Given the description of an element on the screen output the (x, y) to click on. 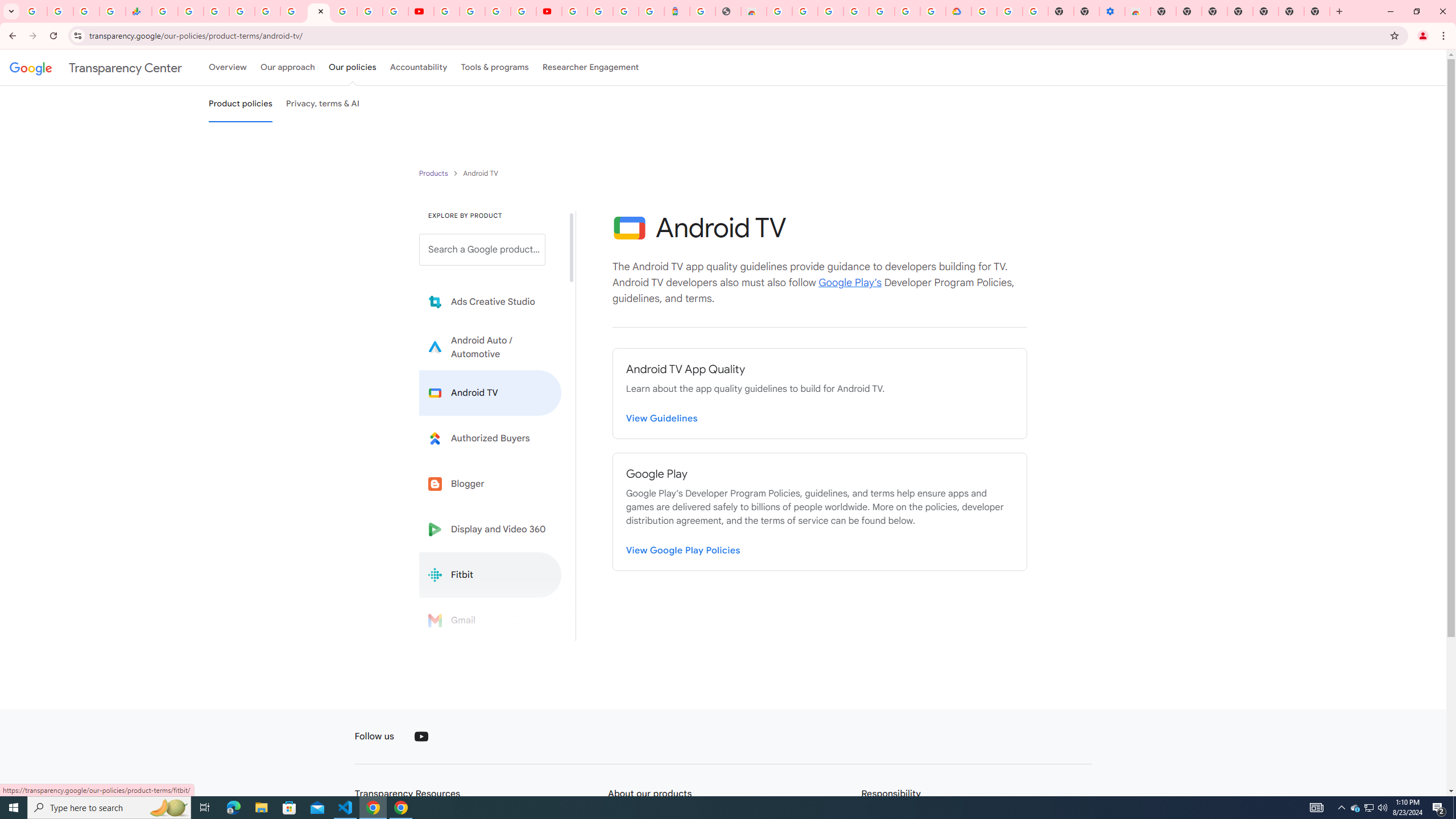
Researcher Engagement (590, 67)
Learn more about Android Auto (490, 347)
YouTube (421, 736)
Privacy, terms & AI (322, 103)
Accountability (418, 67)
Google Workspace Admin Community (34, 11)
New Tab (1316, 11)
Turn cookies on or off - Computer - Google Account Help (1034, 11)
Chrome Web Store - Accessibility extensions (1137, 11)
Blogger (490, 483)
Privacy Checkup (395, 11)
Our approach (287, 67)
